Given the description of an element on the screen output the (x, y) to click on. 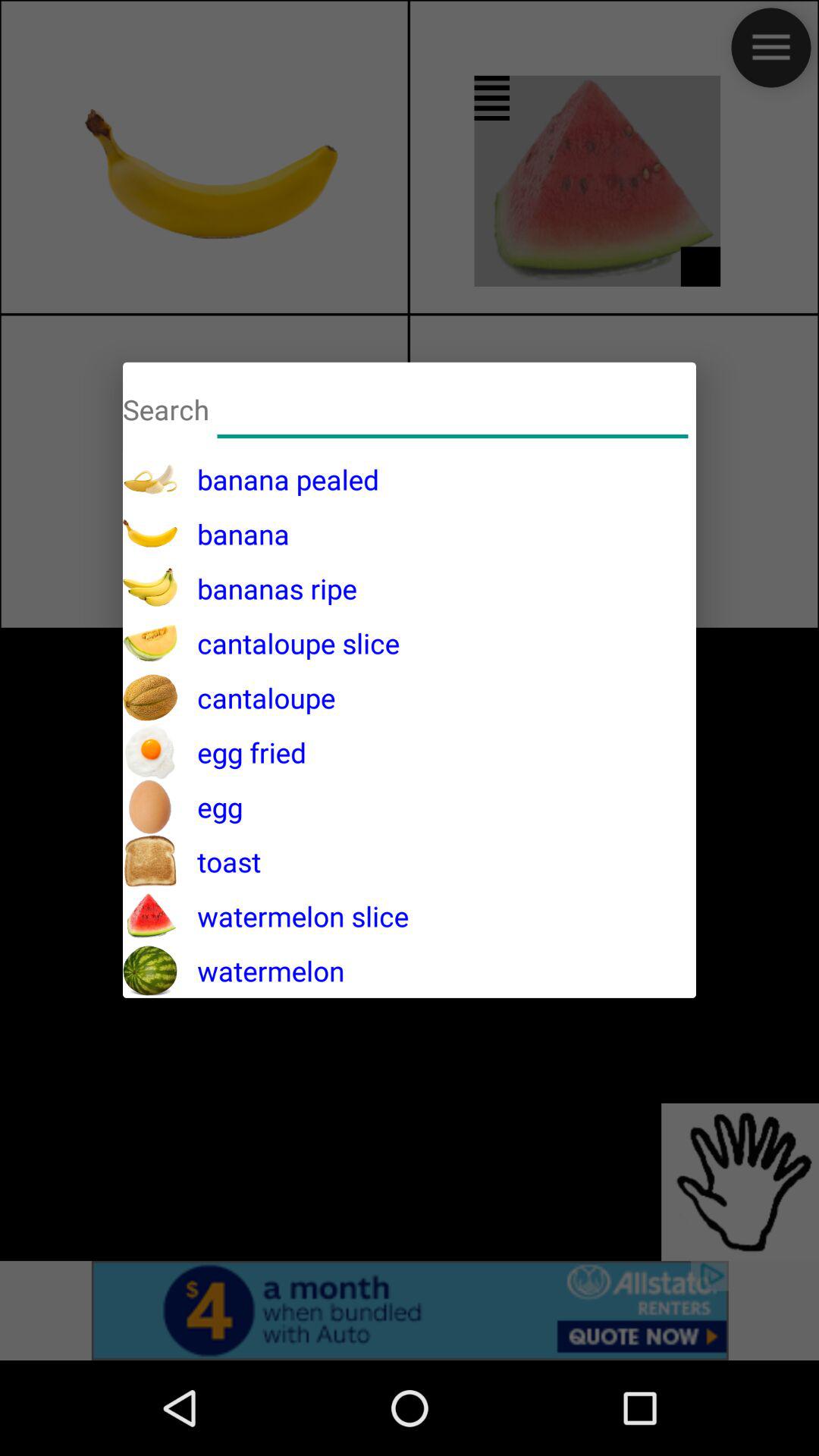
enter your search (452, 407)
